Given the description of an element on the screen output the (x, y) to click on. 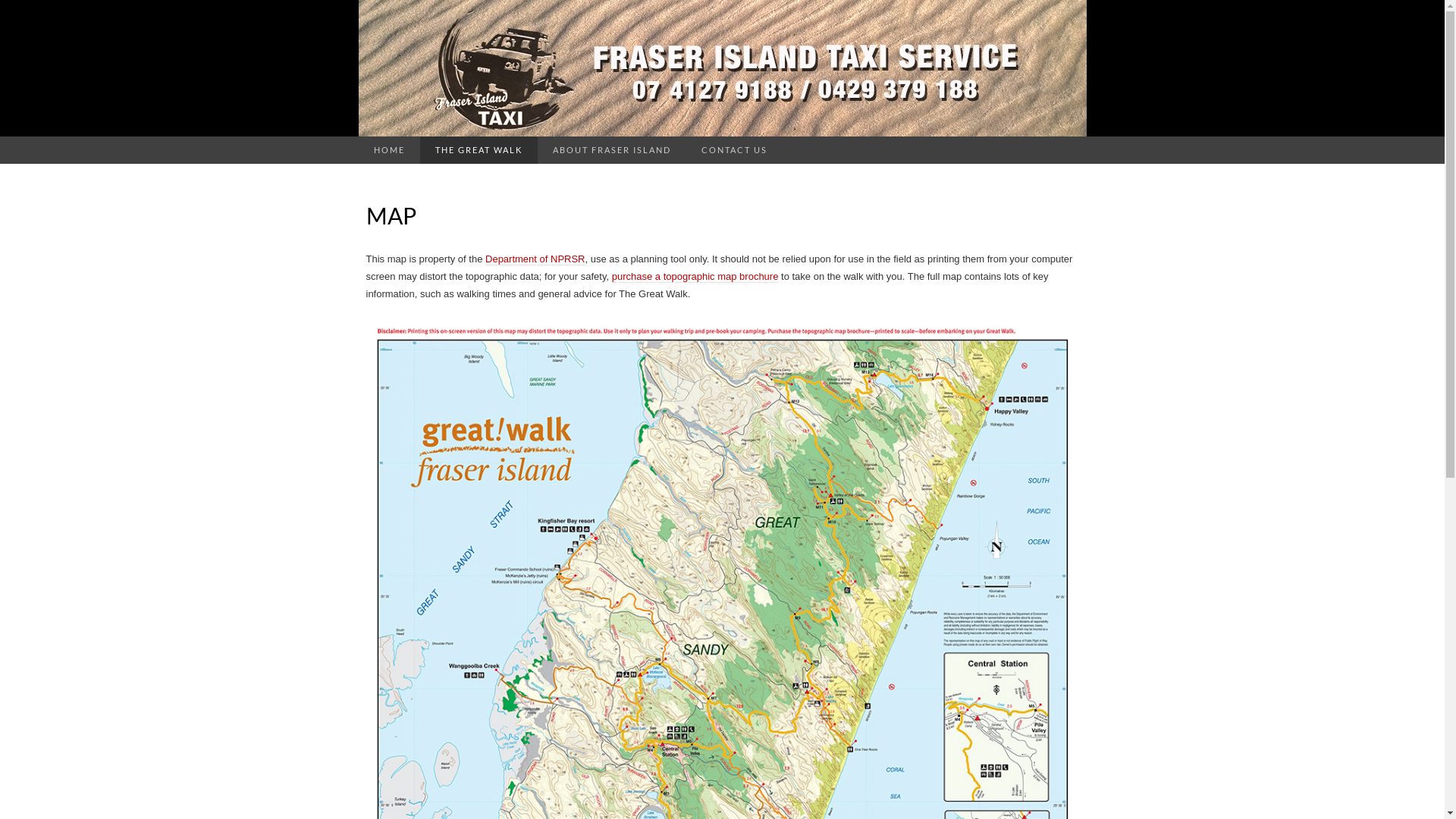
Department of NPRSR Element type: text (535, 259)
HOME Element type: text (388, 149)
CONTACT US Element type: text (733, 149)
THE GREAT WALK Element type: text (478, 149)
FRASER ISLAND TAXI SERVICE Element type: text (721, 68)
purchase a topographic map brochure Element type: text (694, 276)
ABOUT FRASER ISLAND Element type: text (610, 149)
